Given the description of an element on the screen output the (x, y) to click on. 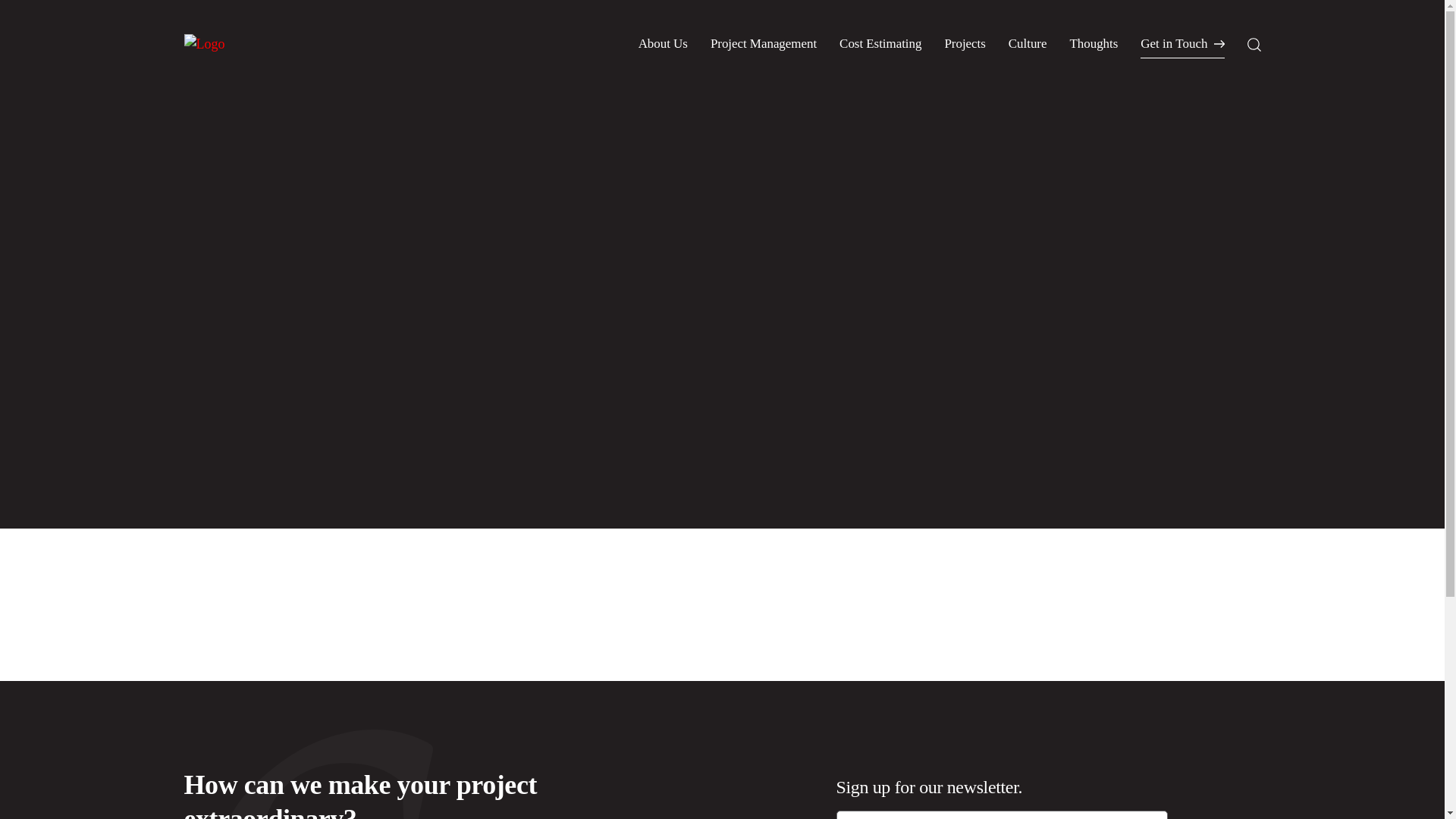
Project Management (763, 43)
Get in Touch (1182, 47)
Subscribe (1225, 818)
Thoughts (1093, 43)
Culture (1027, 43)
Cost Estimating (880, 43)
Projects (964, 43)
About Us (663, 43)
